Given the description of an element on the screen output the (x, y) to click on. 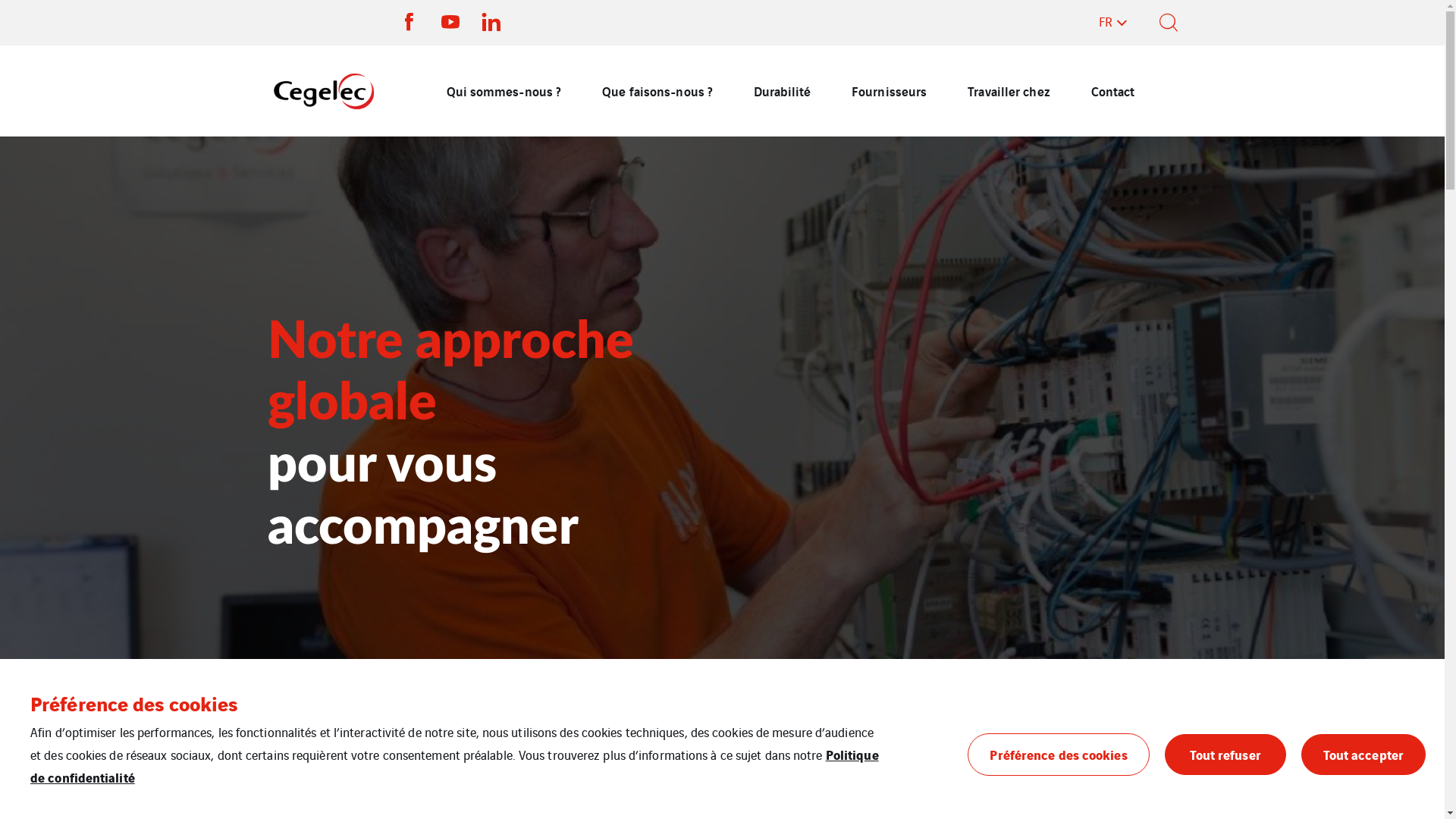
Accueil Element type: text (281, 760)
Search Element type: text (1074, 144)
Qui sommes-nous ? Element type: text (503, 90)
Fournisseurs Element type: text (888, 90)
FR Element type: text (1113, 22)
Que faisons-nous ? Element type: text (348, 760)
Tout refuser Element type: text (1225, 754)
Tout accepter Element type: text (1363, 754)
Que faisons-nous ? Element type: text (657, 90)
Travailler chez Element type: text (1008, 90)
Contact Element type: text (1113, 90)
